Given the description of an element on the screen output the (x, y) to click on. 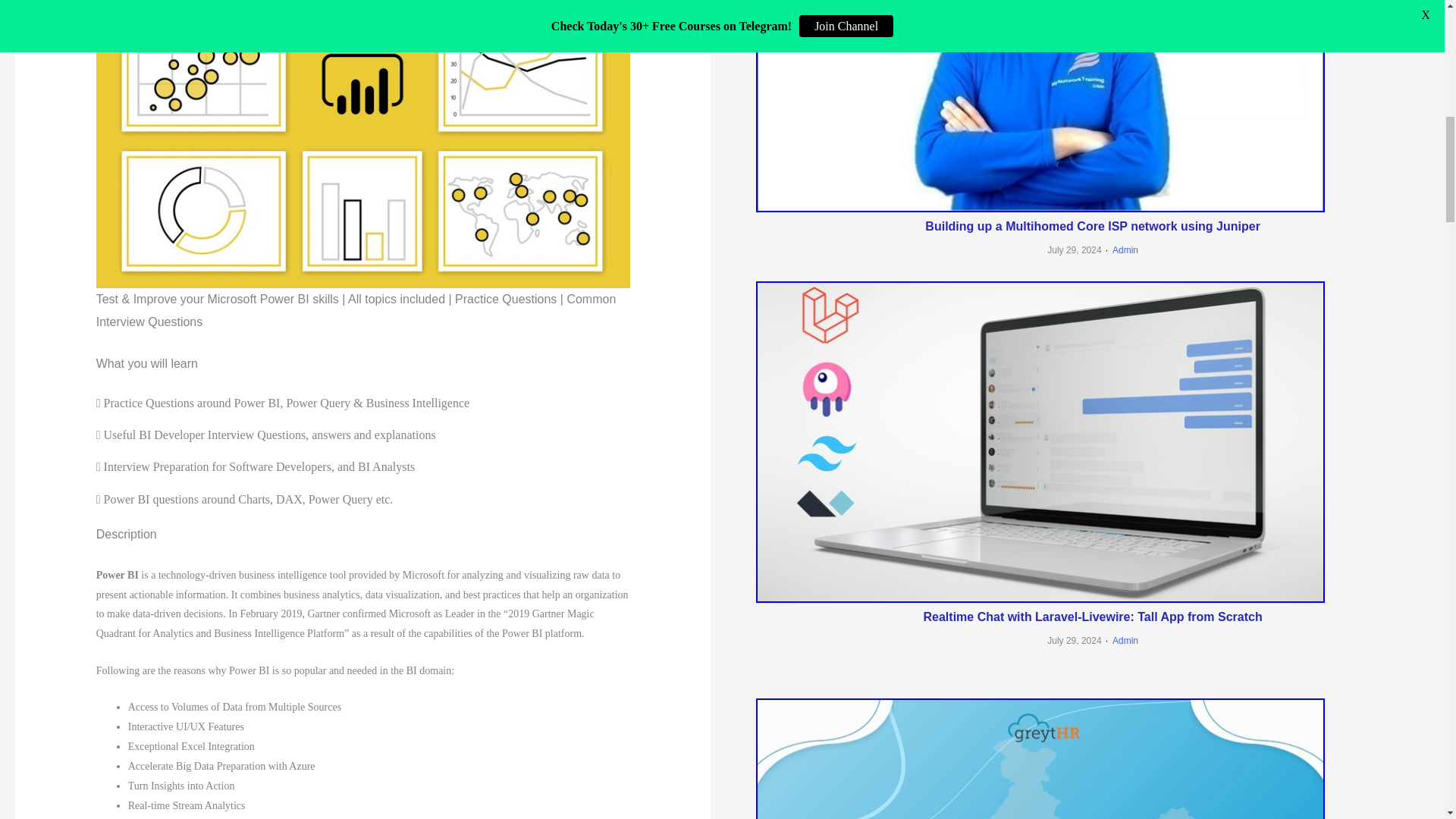
Admin (1120, 640)
Building up a Multihomed Core ISP network using Juniper (1092, 226)
Realtime Chat with Laravel-Livewire: Tall App from Scratch (1092, 616)
Admin (1120, 249)
